Given the description of an element on the screen output the (x, y) to click on. 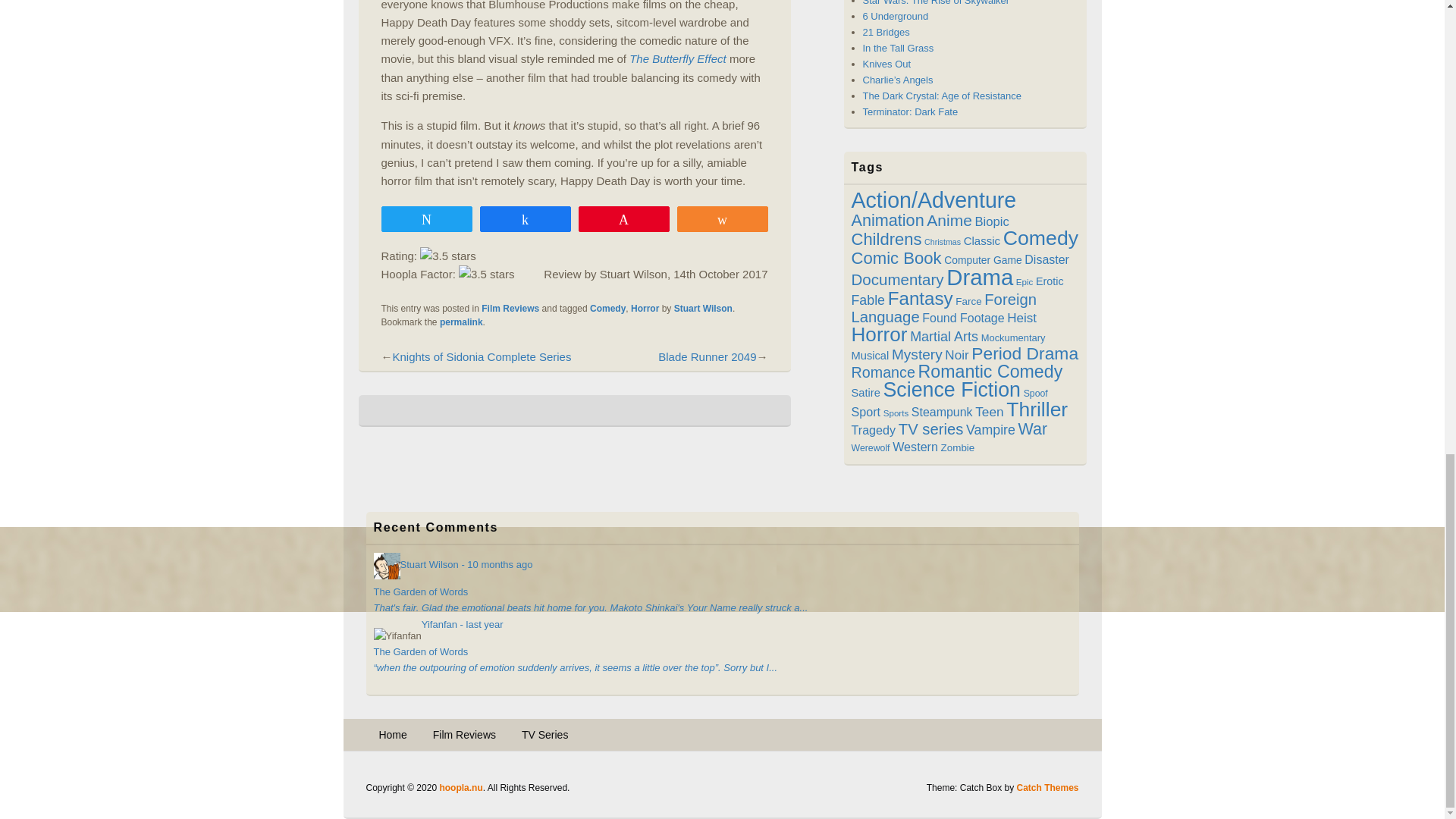
Horror (644, 308)
Film Reviews (509, 308)
Knights of Sidonia Complete Series (482, 356)
Permalink to Happy Death Day (461, 321)
Stuart Wilson (703, 308)
The Butterfly Effect (677, 58)
permalink (461, 321)
hoopla.nu (460, 787)
Knights of Sidonia Complete Series (482, 356)
Blade Runner 2049 (706, 356)
Blade Runner 2049 (706, 356)
Comedy (607, 308)
